Given the description of an element on the screen output the (x, y) to click on. 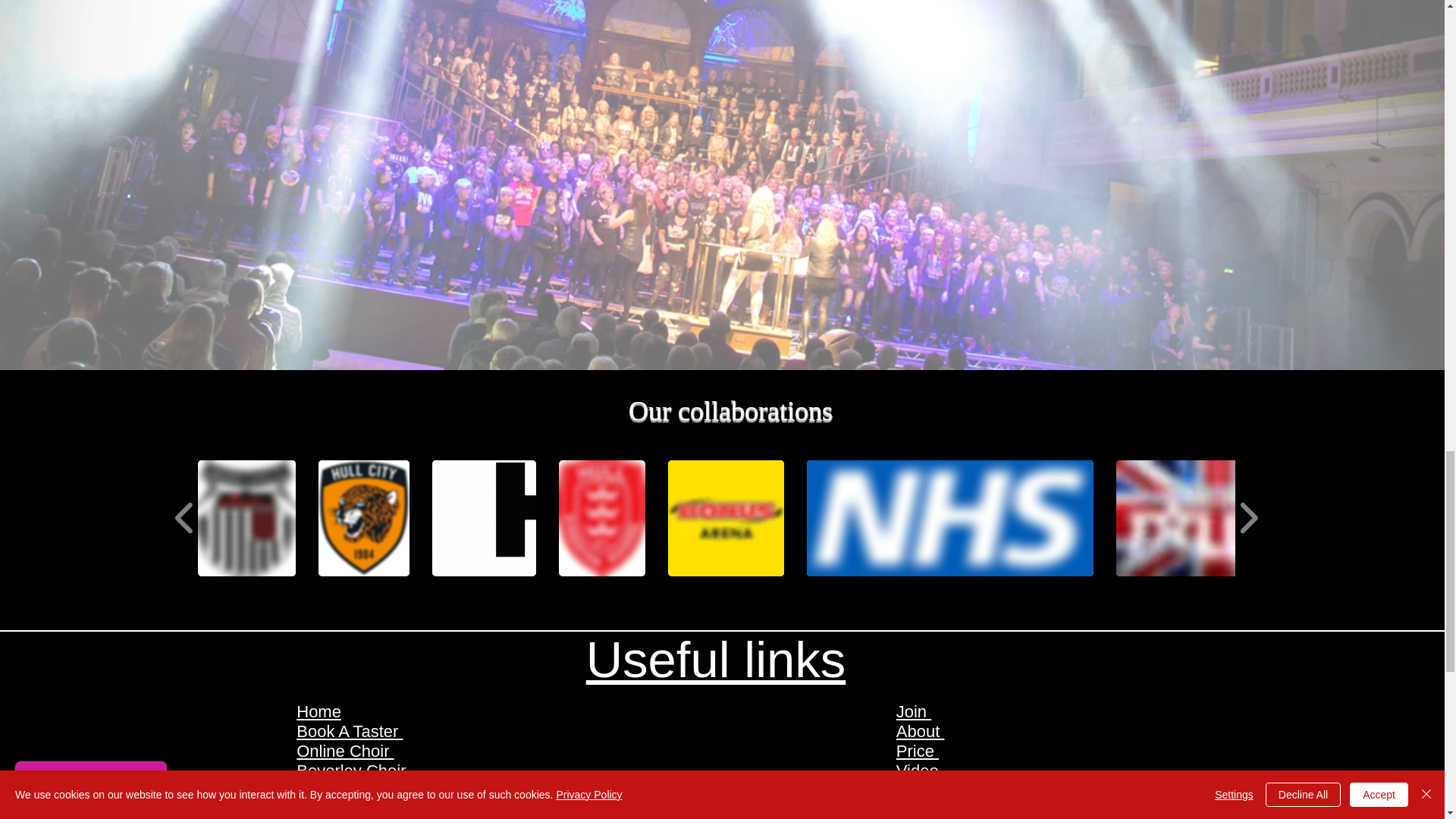
Home (318, 711)
Beverley Choir  (353, 770)
Online Choir  (345, 751)
Cleethorpes Choir (363, 790)
Book A Taster  (350, 731)
Driffield Choir (347, 809)
